Given the description of an element on the screen output the (x, y) to click on. 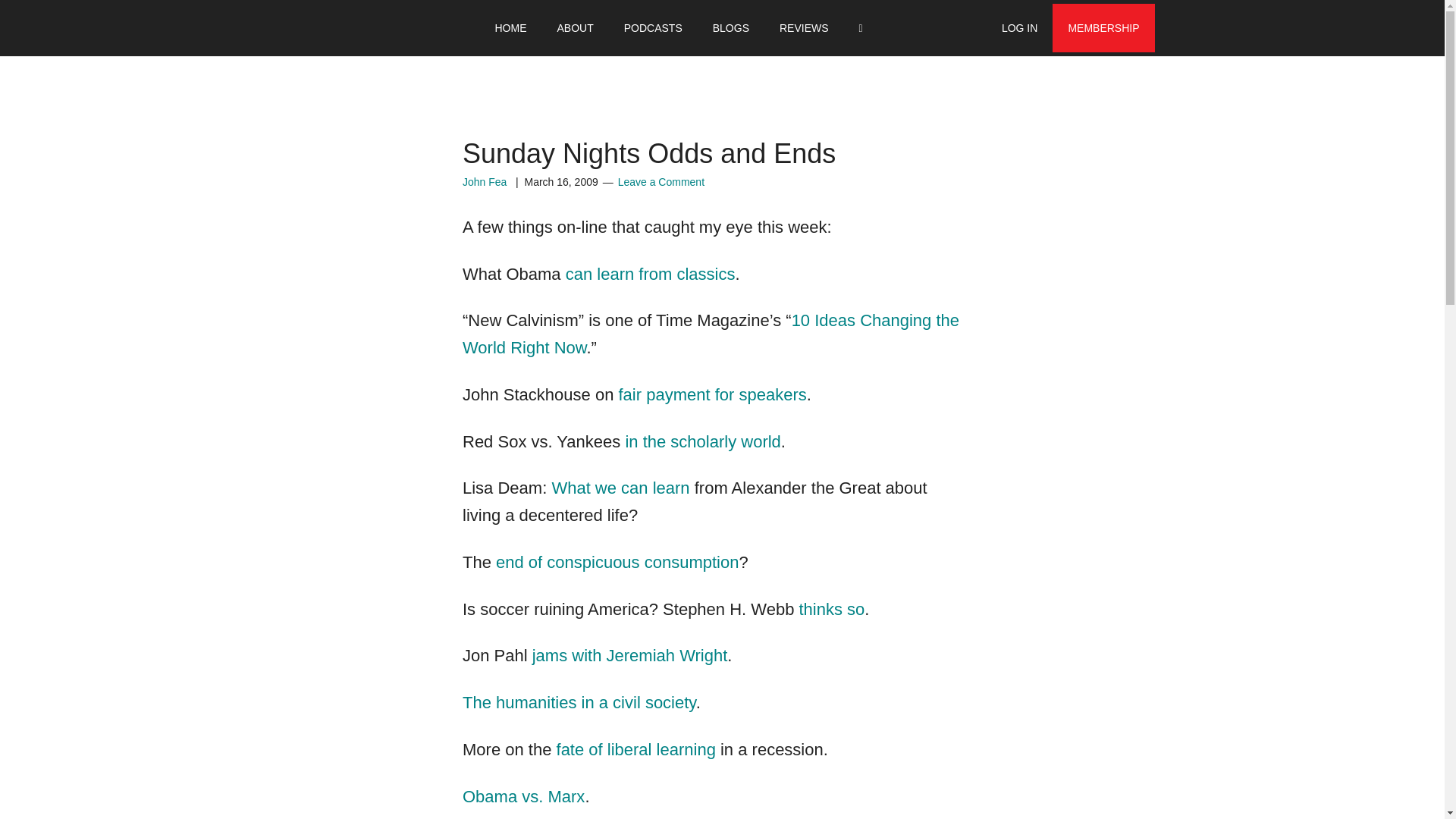
10 Ideas Changing the World Right Now (711, 334)
Leave a Comment (660, 182)
WAY OF IMPROVEMENT (365, 28)
What we can learn (622, 487)
fate of liberal learning (638, 749)
in the scholarly world (702, 441)
VITA (567, 28)
HOME (510, 28)
jams with Jeremiah Wright (630, 655)
BOOKS (628, 28)
